Given the description of an element on the screen output the (x, y) to click on. 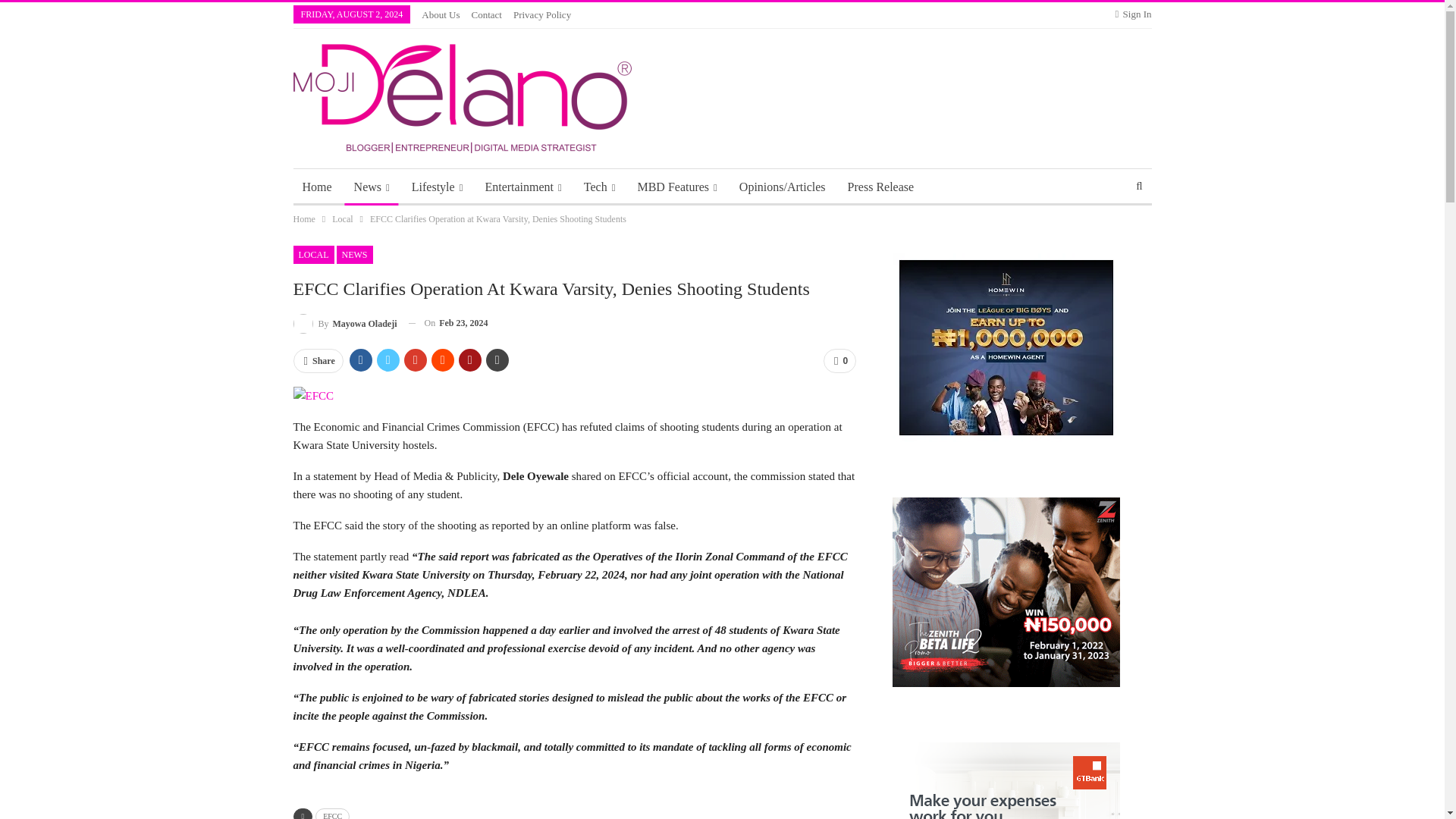
0 (840, 360)
Local (341, 218)
Tech (599, 186)
LOCAL (312, 254)
NEWS (354, 254)
Browse Author Articles (344, 322)
Home (303, 218)
Privacy Policy (541, 14)
By Mayowa Oladeji (344, 322)
About Us (441, 14)
Press Release (880, 186)
MBD Features (676, 186)
Entertainment (523, 186)
Lifestyle (437, 186)
Contact (486, 14)
